Given the description of an element on the screen output the (x, y) to click on. 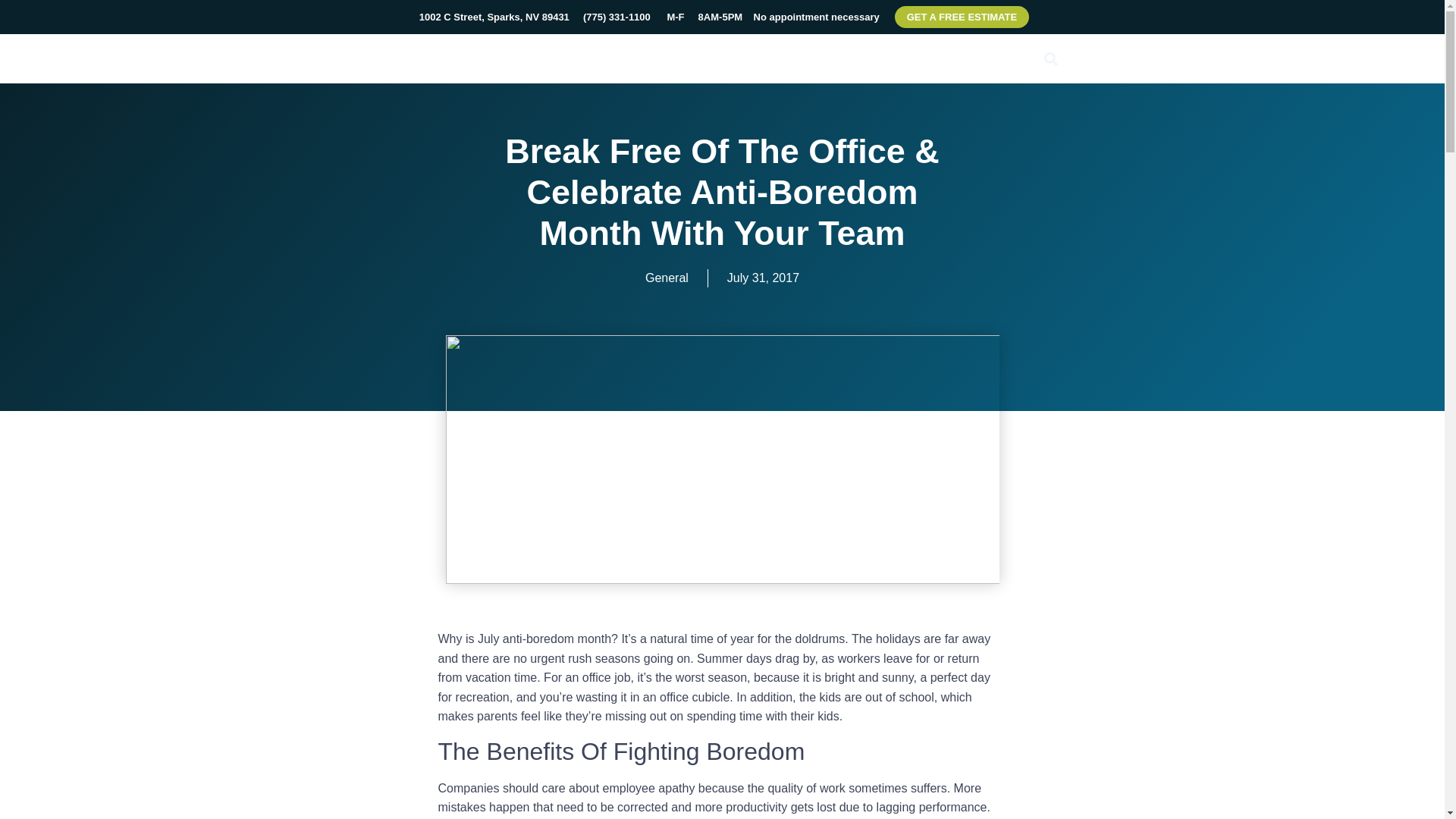
CERTIFIED INSTALLERS (601, 58)
TESTIMONIALS (976, 58)
July 31, 2017 (762, 278)
General (666, 277)
GET A FREE ESTIMATE (962, 16)
OUR WORK (812, 58)
